Given the description of an element on the screen output the (x, y) to click on. 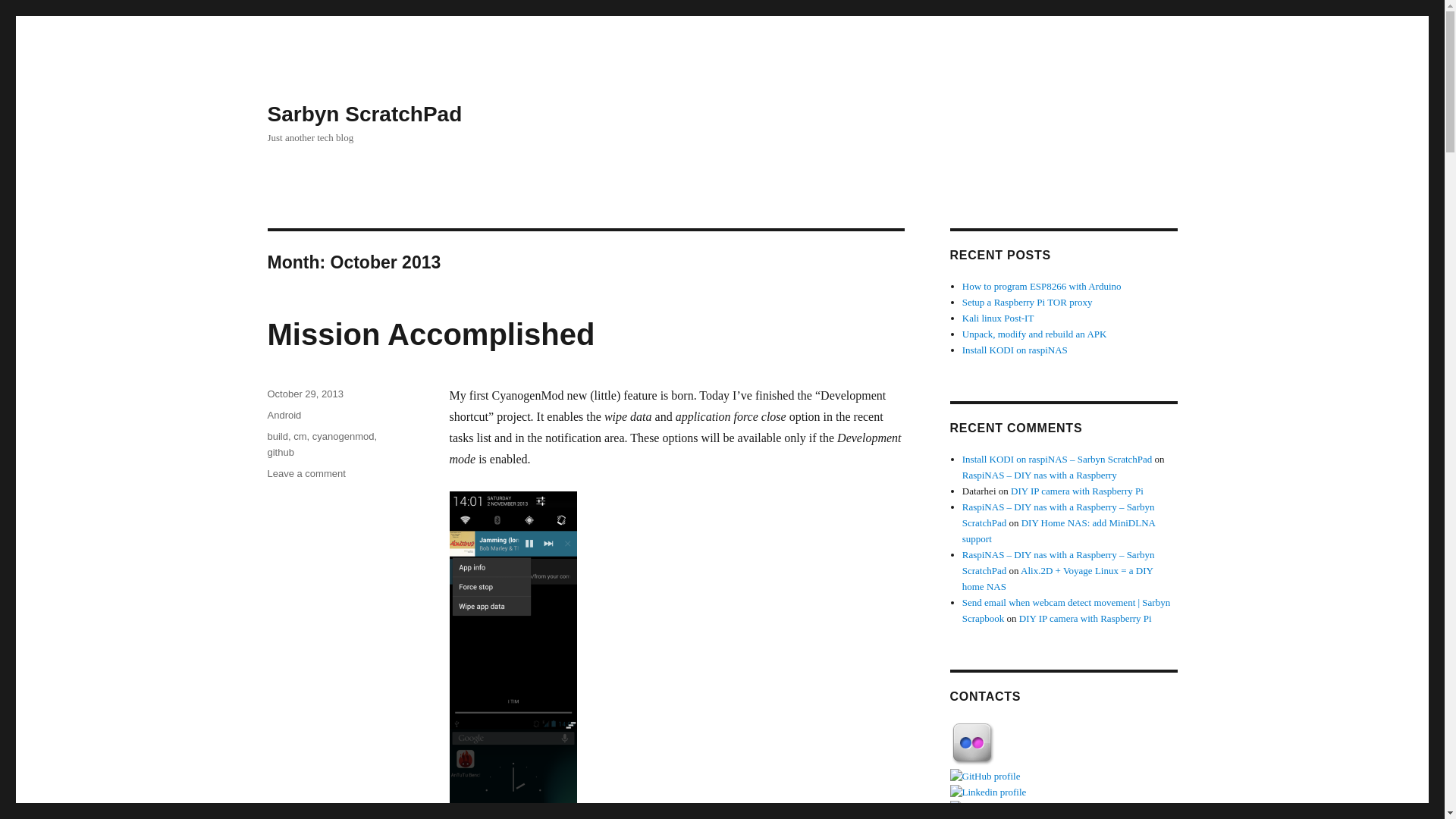
Twitter profile (1062, 808)
GitHub profile (1062, 776)
Mission Accomplished (305, 473)
Unpack, modify and rebuild an APK (430, 334)
October 29, 2013 (1034, 333)
build (304, 393)
Flickr profile (276, 436)
Sarbyn ScratchPad (1062, 744)
cm (363, 114)
